Given the description of an element on the screen output the (x, y) to click on. 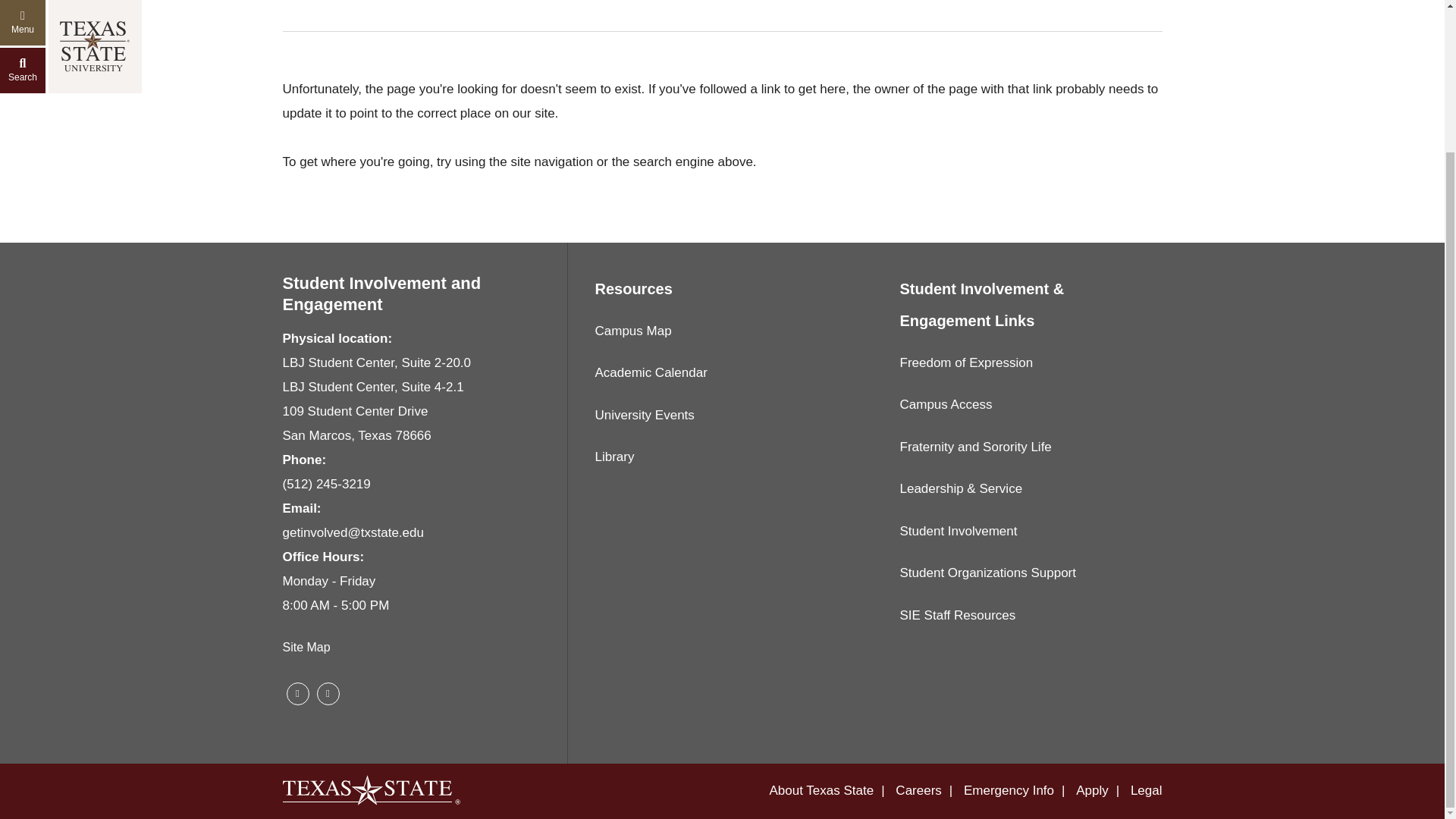
Twitter (328, 693)
Student Involvement and Engagement (381, 292)
Instagram (297, 693)
Site Map (306, 646)
